Given the description of an element on the screen output the (x, y) to click on. 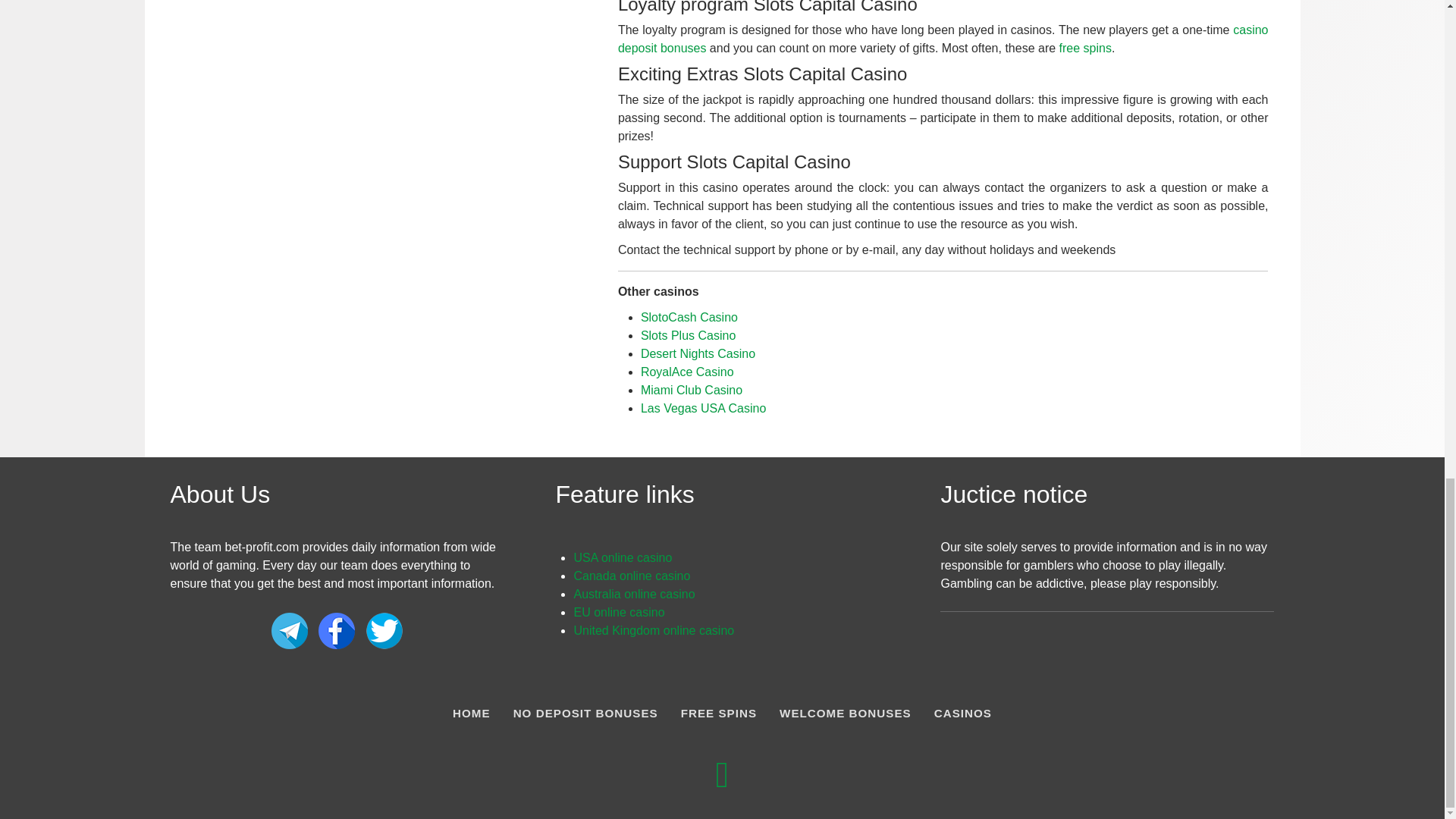
SlotoCash Casino (689, 316)
Slots Plus Casino (687, 334)
